Given the description of an element on the screen output the (x, y) to click on. 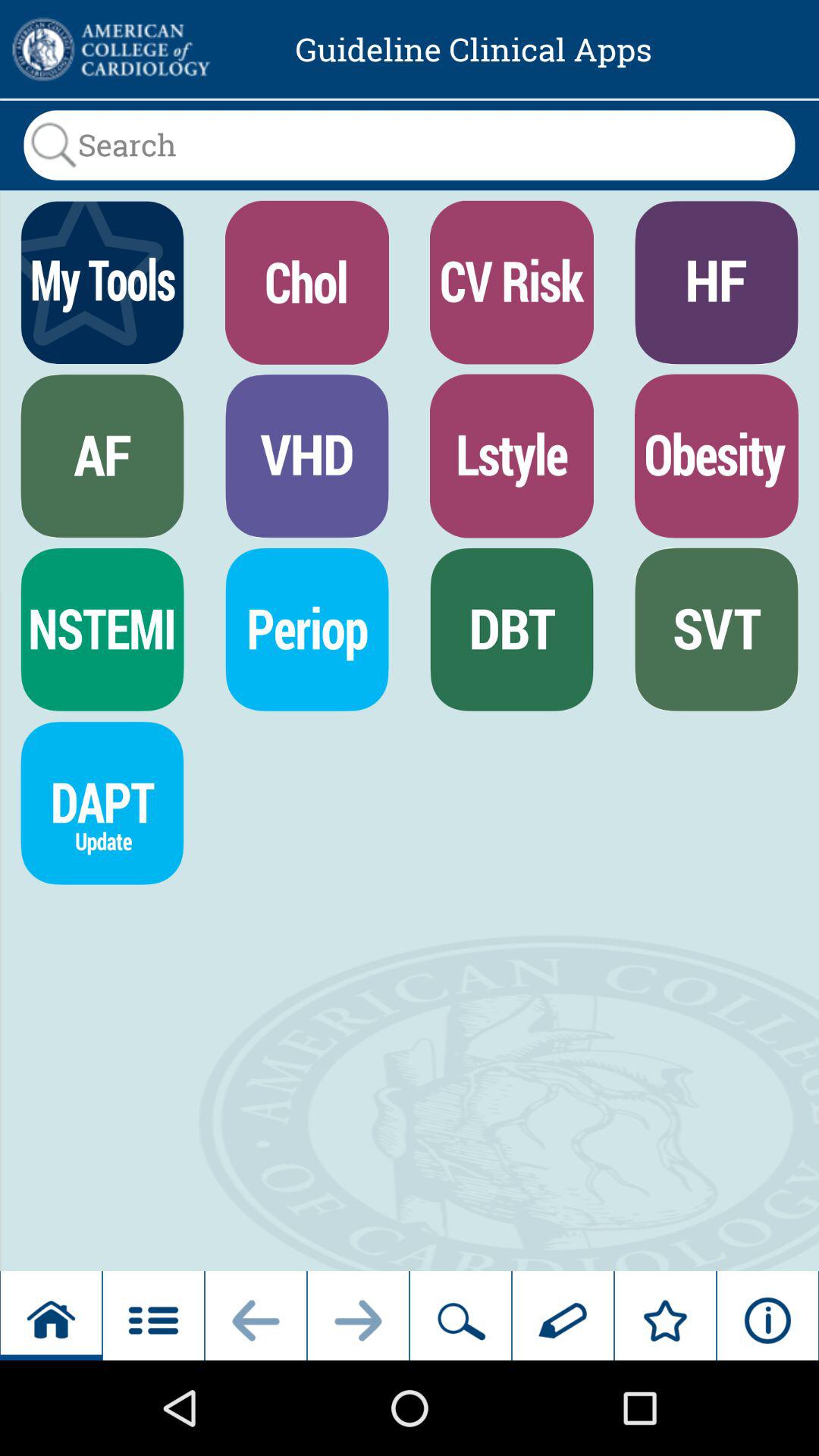
input search term (409, 145)
